Given the description of an element on the screen output the (x, y) to click on. 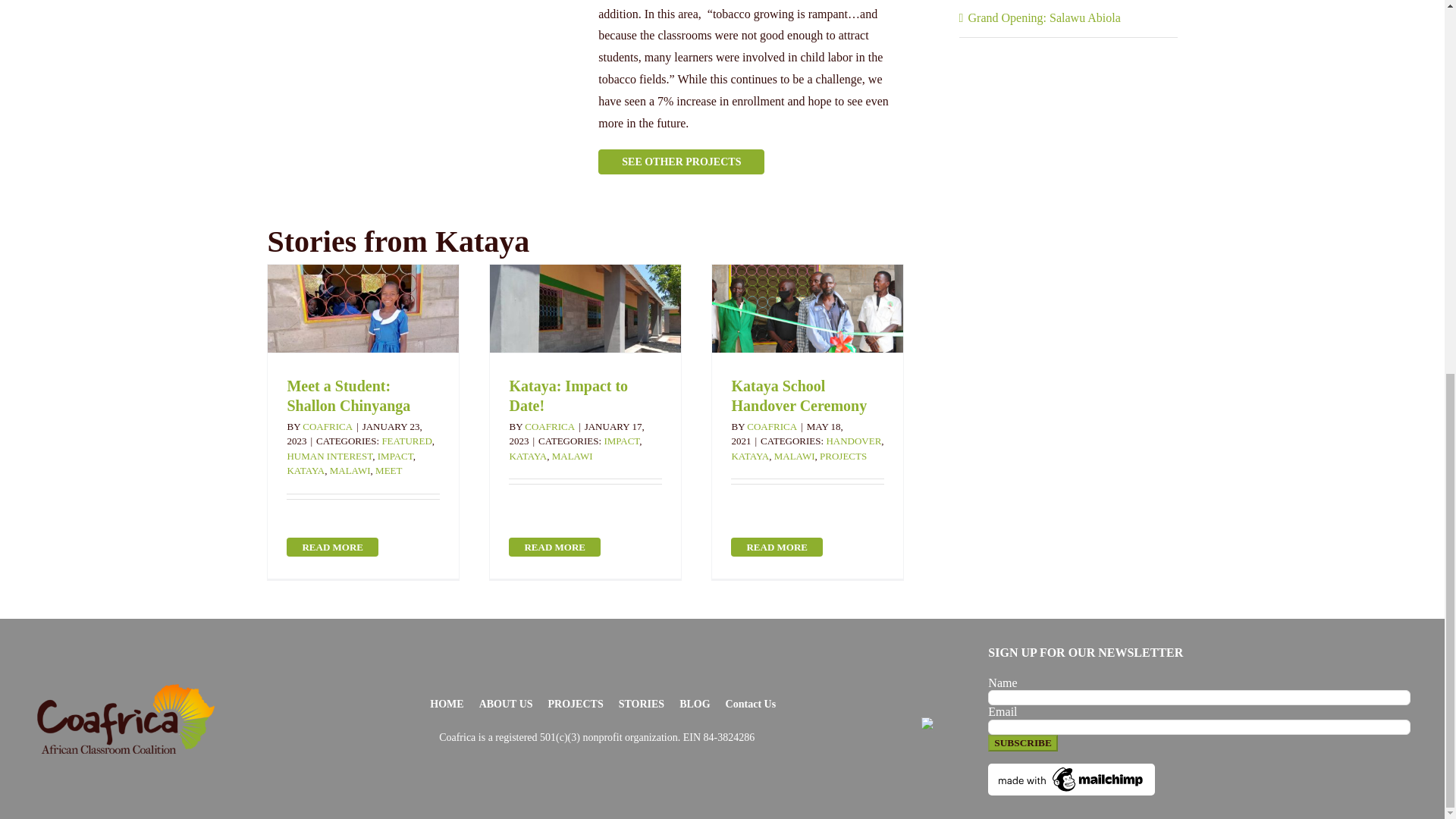
Mailchimp - email marketing made easy and fun (1071, 769)
Posts by Coafrica (327, 426)
MALAWI (350, 470)
HUMAN INTEREST (329, 455)
Posts by Coafrica (771, 426)
FEATURED (405, 440)
MEET (388, 470)
SEE OTHER PROJECTS (681, 161)
COAFRICA (327, 426)
IMPACT (395, 455)
Meet a Student: Shallon Chinyanga (348, 395)
Subscribe (1023, 742)
KATAYA (305, 470)
Posts by Coafrica (549, 426)
